Given the description of an element on the screen output the (x, y) to click on. 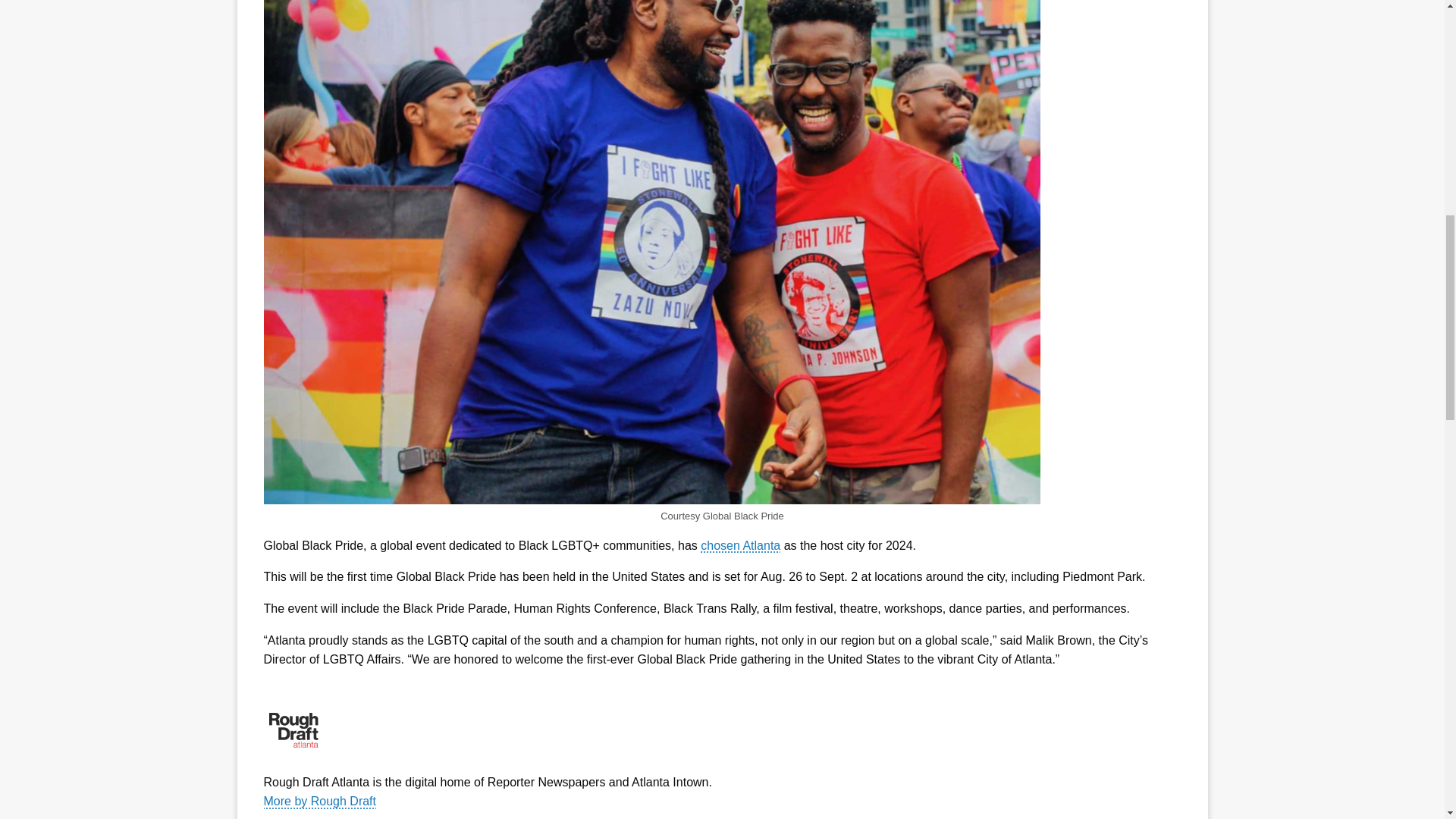
More by Rough Draft (487, 806)
chosen Atlanta (740, 545)
